Given the description of an element on the screen output the (x, y) to click on. 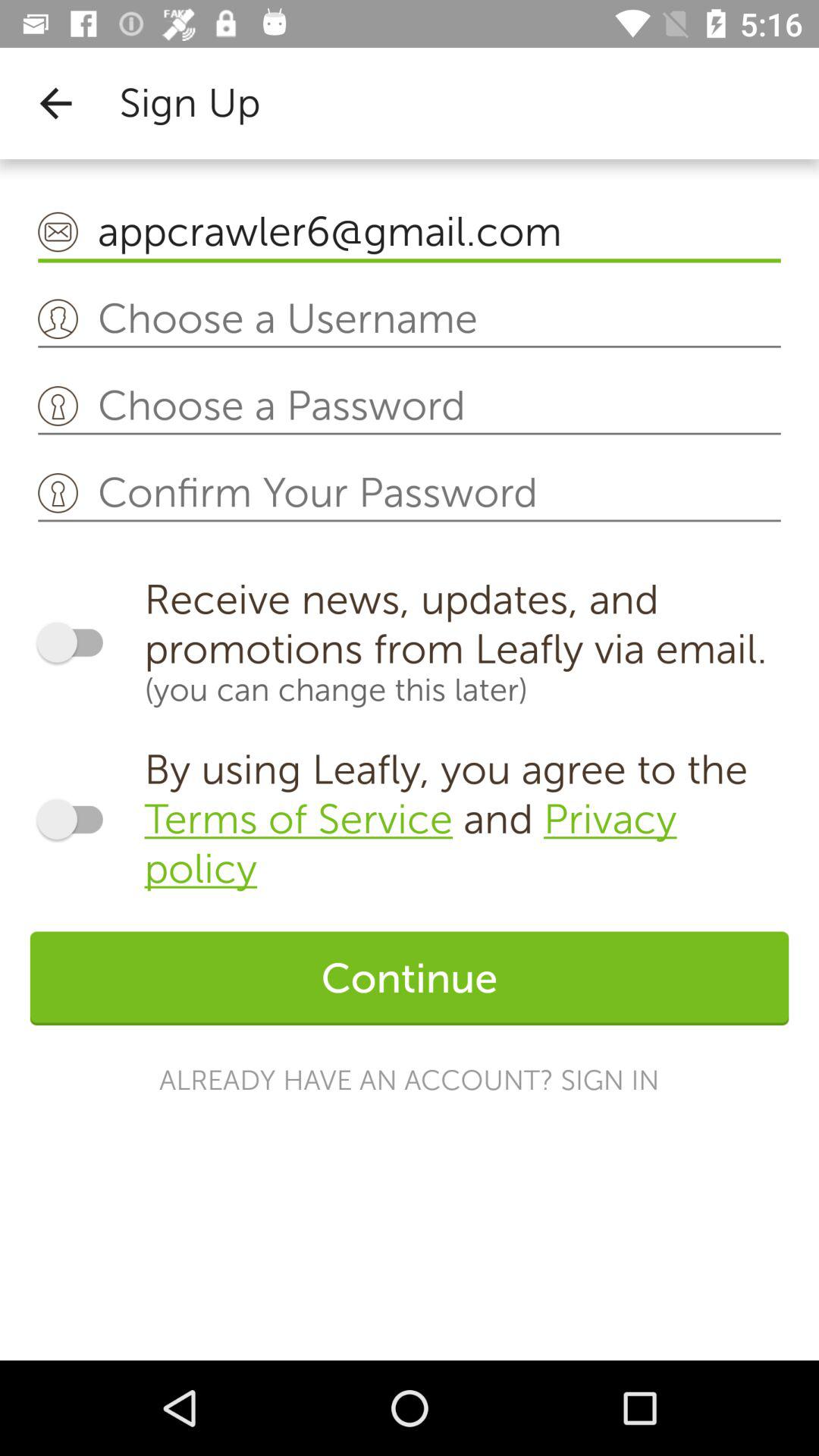
open the icon below the continue item (409, 1080)
